Given the description of an element on the screen output the (x, y) to click on. 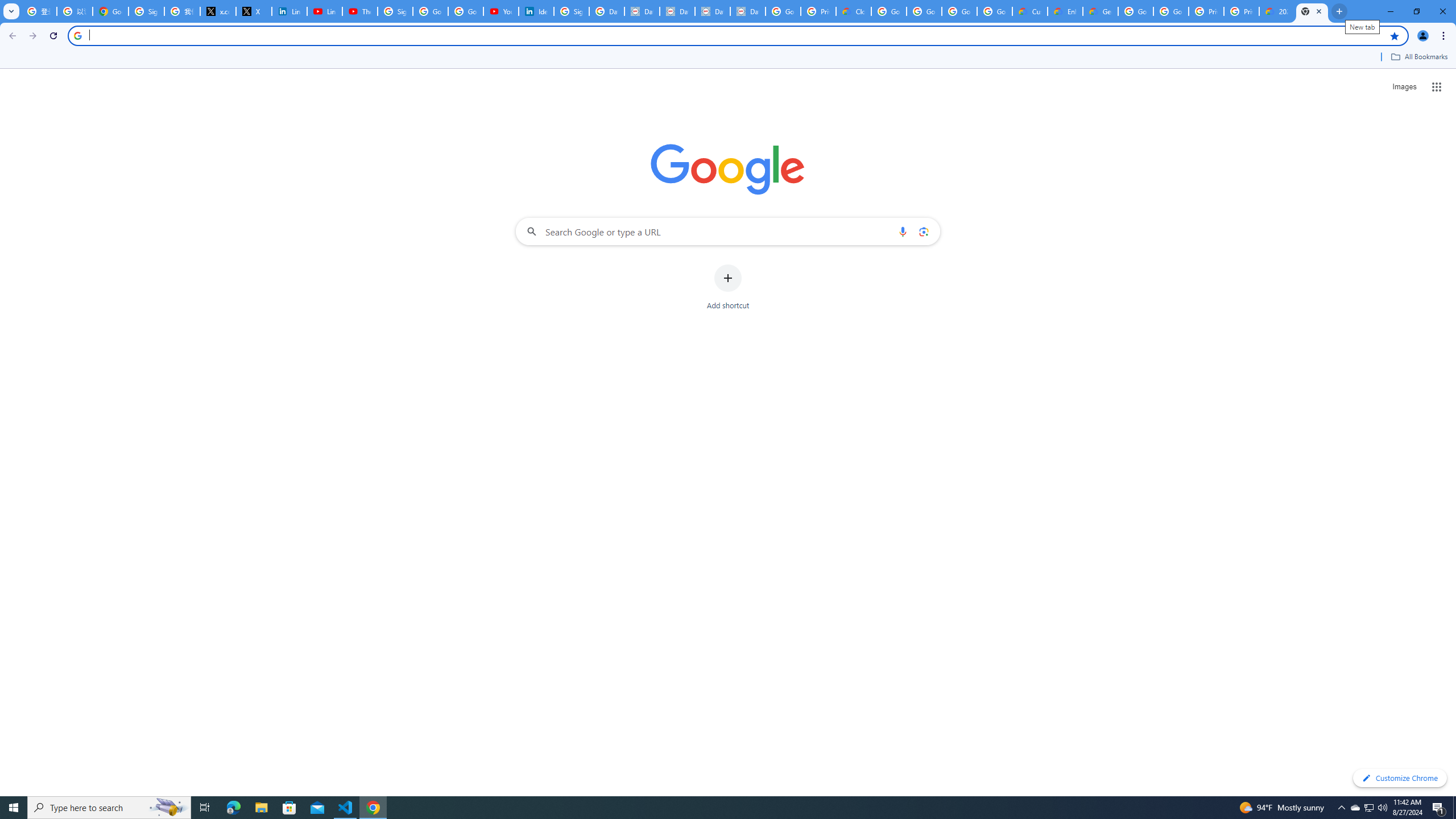
Cloud Data Processing Addendum | Google Cloud (853, 11)
Google Cloud Platform (1135, 11)
